Given the description of an element on the screen output the (x, y) to click on. 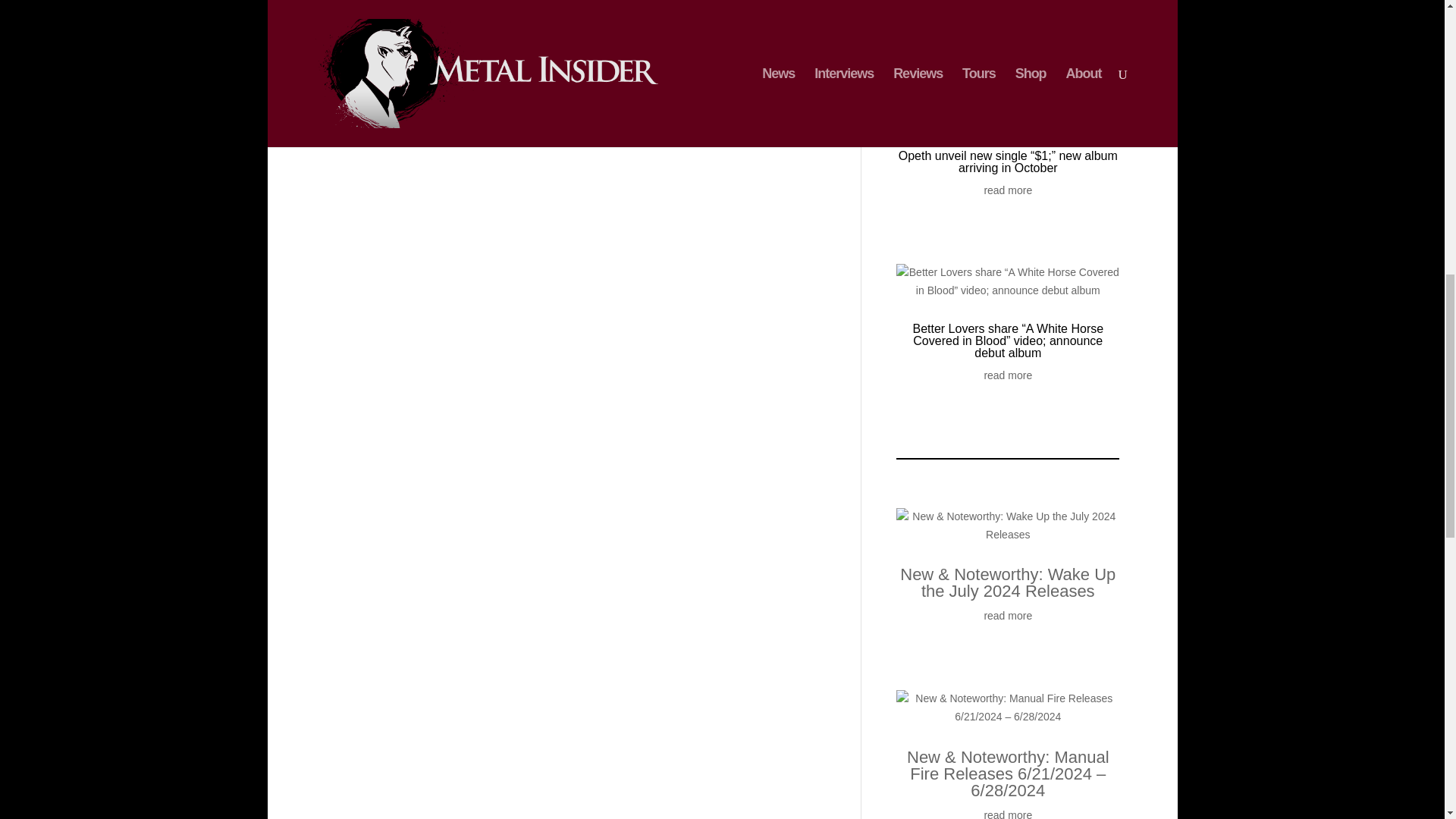
read more (1007, 190)
read more (1007, 375)
read more (1007, 812)
read more (1007, 616)
